Given the description of an element on the screen output the (x, y) to click on. 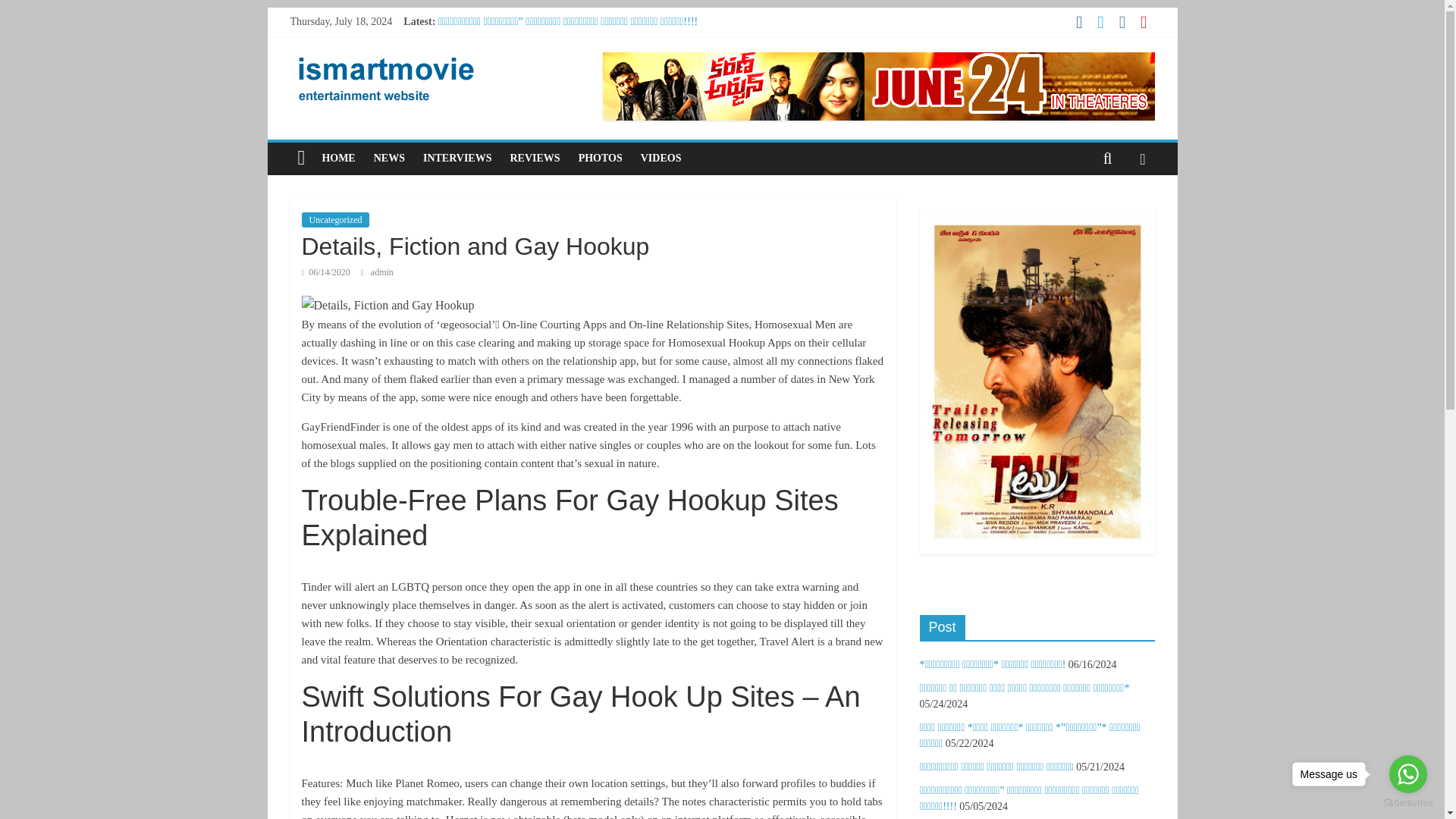
VIDEOS (660, 158)
REVIEWS (534, 158)
admin (382, 271)
10:09 am (325, 271)
NEWS (389, 158)
admin (382, 271)
PHOTOS (600, 158)
Uncategorized (335, 219)
INTERVIEWS (456, 158)
HOME (338, 158)
